Given the description of an element on the screen output the (x, y) to click on. 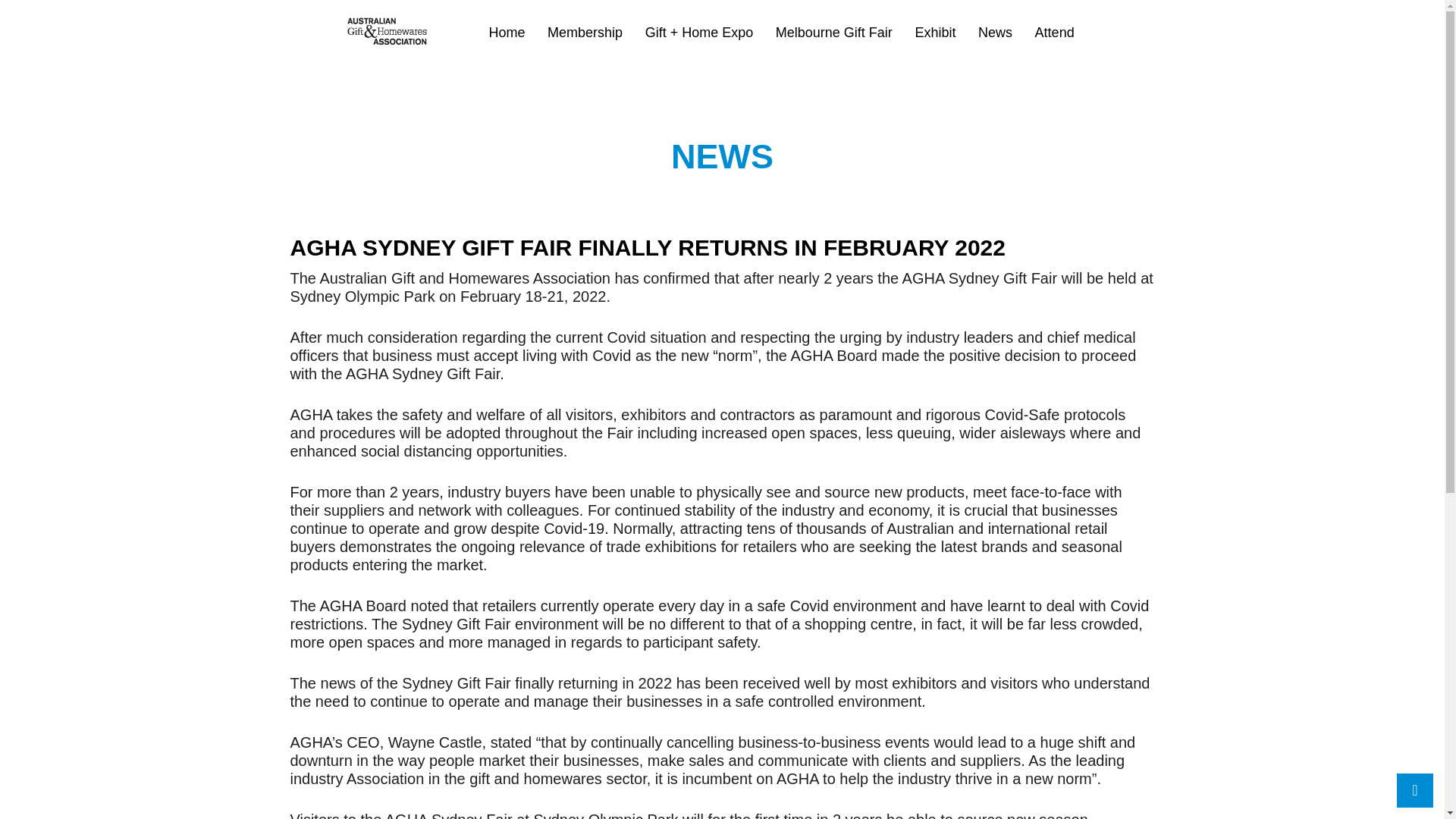
AGHA (311, 54)
News (994, 32)
Melbourne Gift Fair (834, 32)
Home (505, 32)
Membership (585, 32)
Attend (1054, 32)
Exhibit (934, 32)
